Given the description of an element on the screen output the (x, y) to click on. 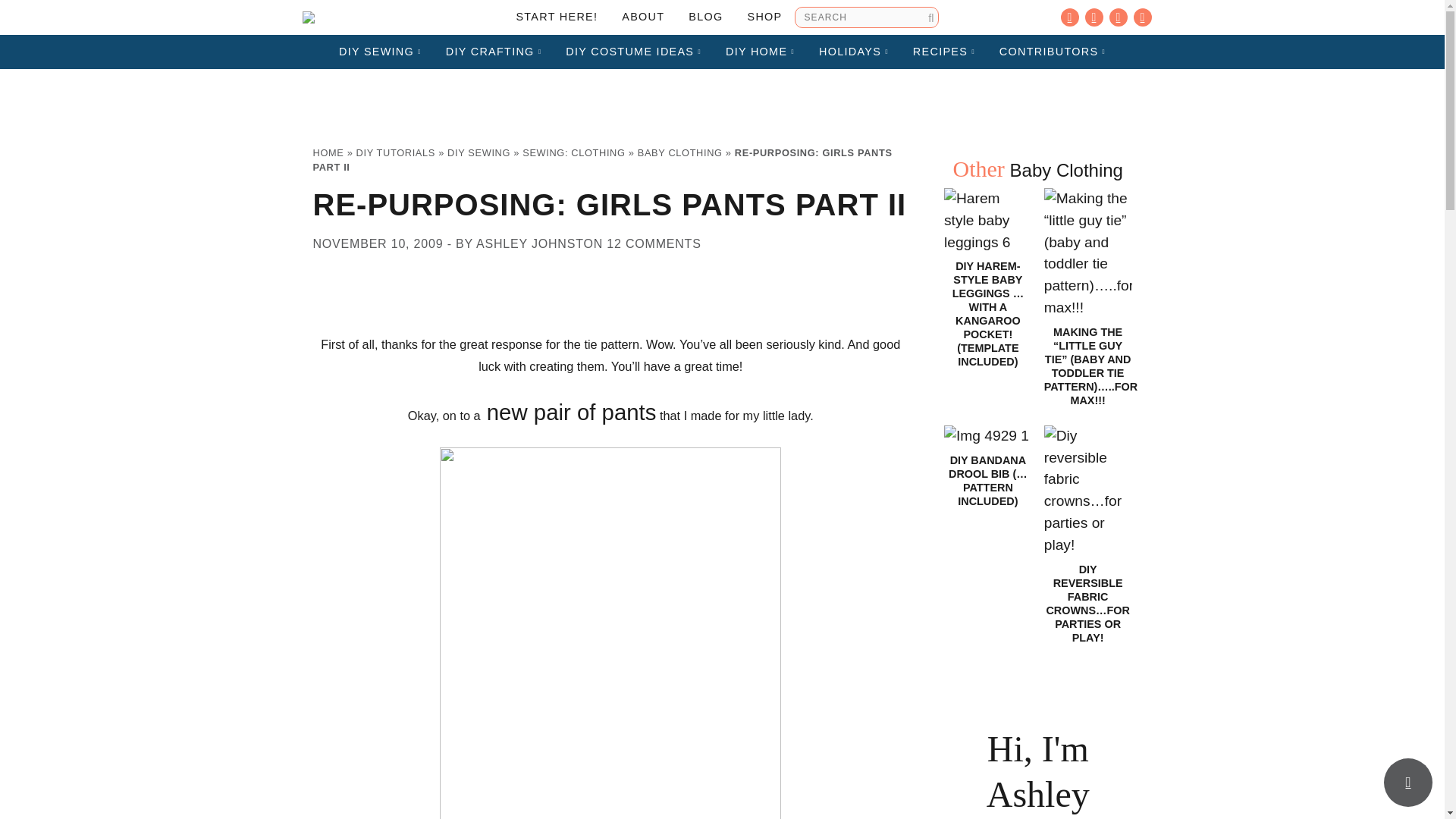
DIY CRAFTING (493, 52)
DIY SEWING (379, 52)
DIY COSTUME IDEAS (633, 52)
Facebook (1068, 17)
BLOG (706, 17)
Search (930, 16)
Pinterest (1117, 17)
Twitter (1141, 17)
ABOUT (643, 17)
START HERE! (556, 17)
Instagram (1093, 17)
SHOP (764, 17)
